Given the description of an element on the screen output the (x, y) to click on. 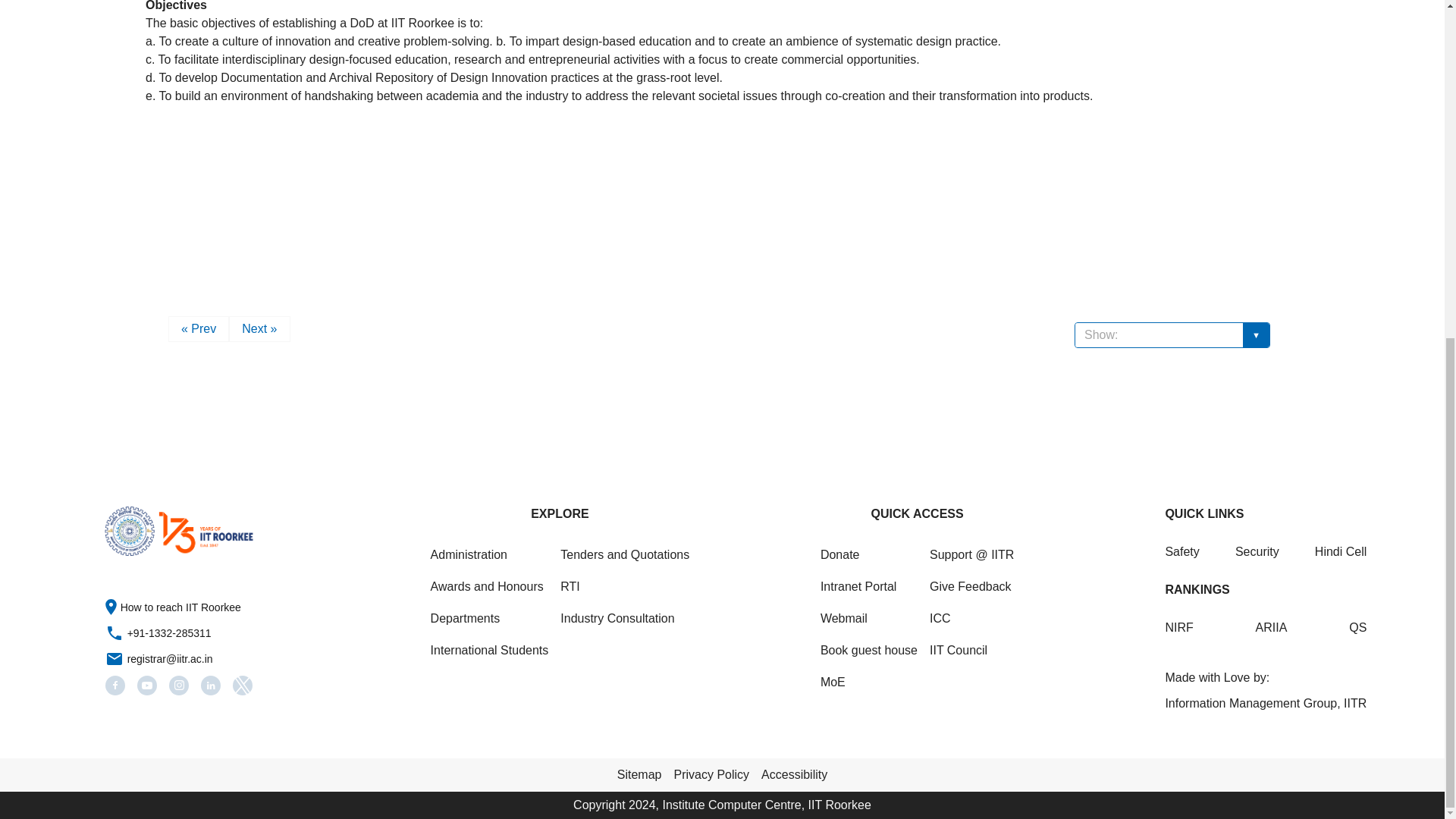
How to reach IIT Roorkee (180, 607)
